Given the description of an element on the screen output the (x, y) to click on. 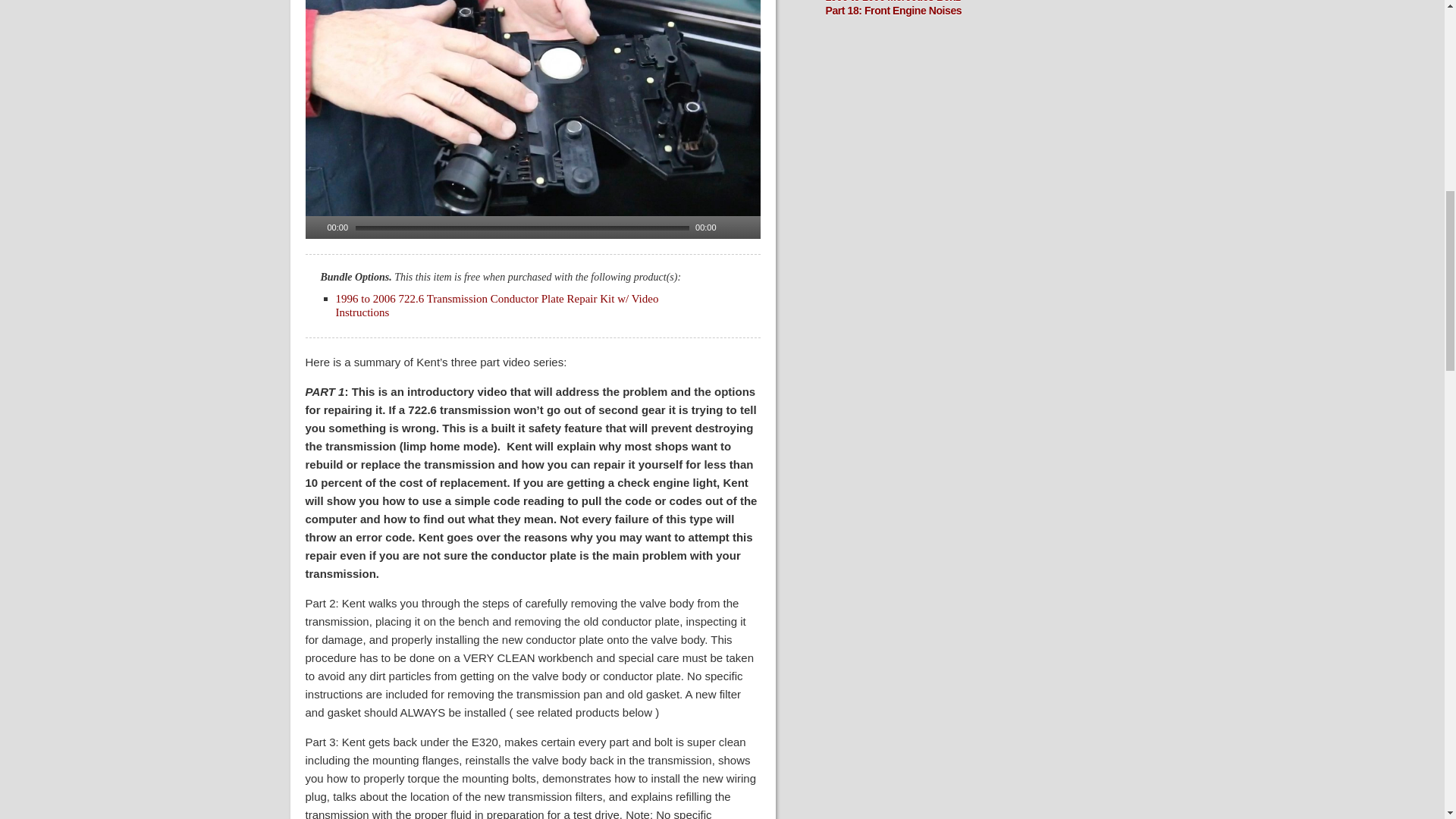
Fullscreen (749, 227)
Mute Toggle (729, 227)
1996 to 2006 Mercedes Benz Part 18: Front Engine Noises (892, 8)
